Given the description of an element on the screen output the (x, y) to click on. 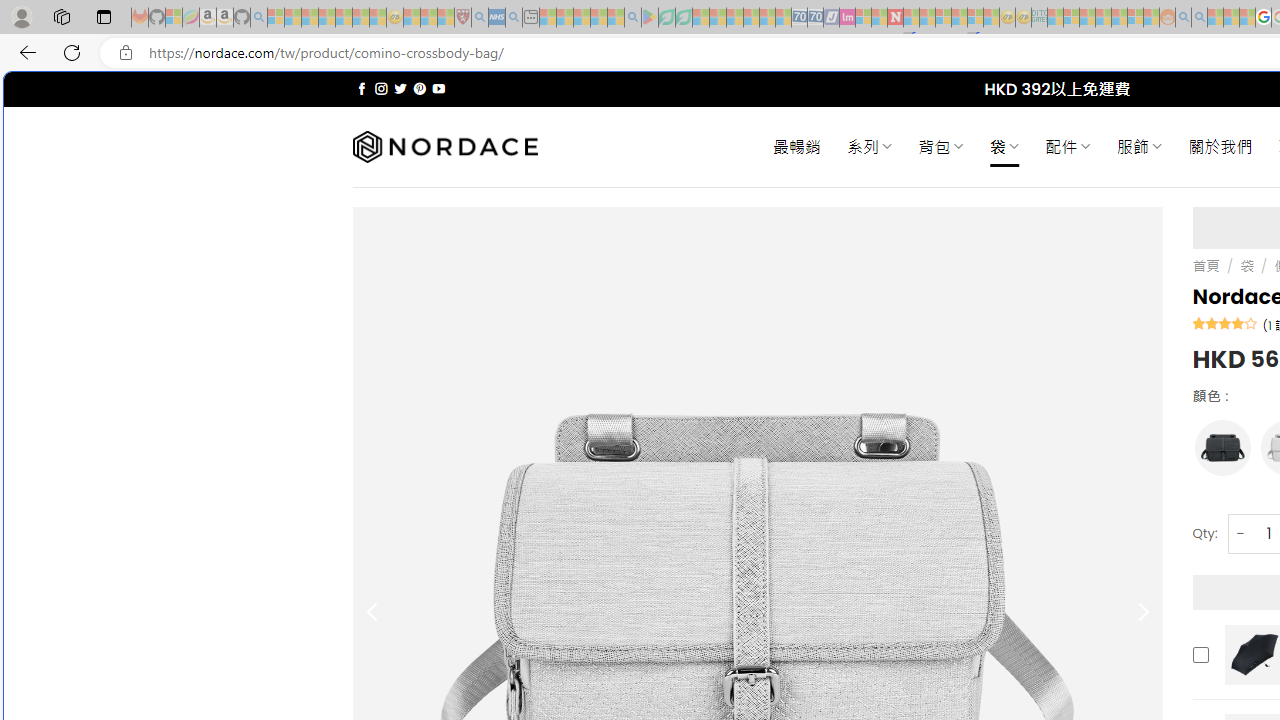
Expert Portfolios - Sleeping (1103, 17)
list of asthma inhalers uk - Search - Sleeping (479, 17)
Pets - MSN - Sleeping (598, 17)
Follow on YouTube (438, 88)
Latest Politics News & Archive | Newsweek.com - Sleeping (895, 17)
Follow on Facebook (361, 88)
Microsoft-Report a Concern to Bing - Sleeping (173, 17)
